Given the description of an element on the screen output the (x, y) to click on. 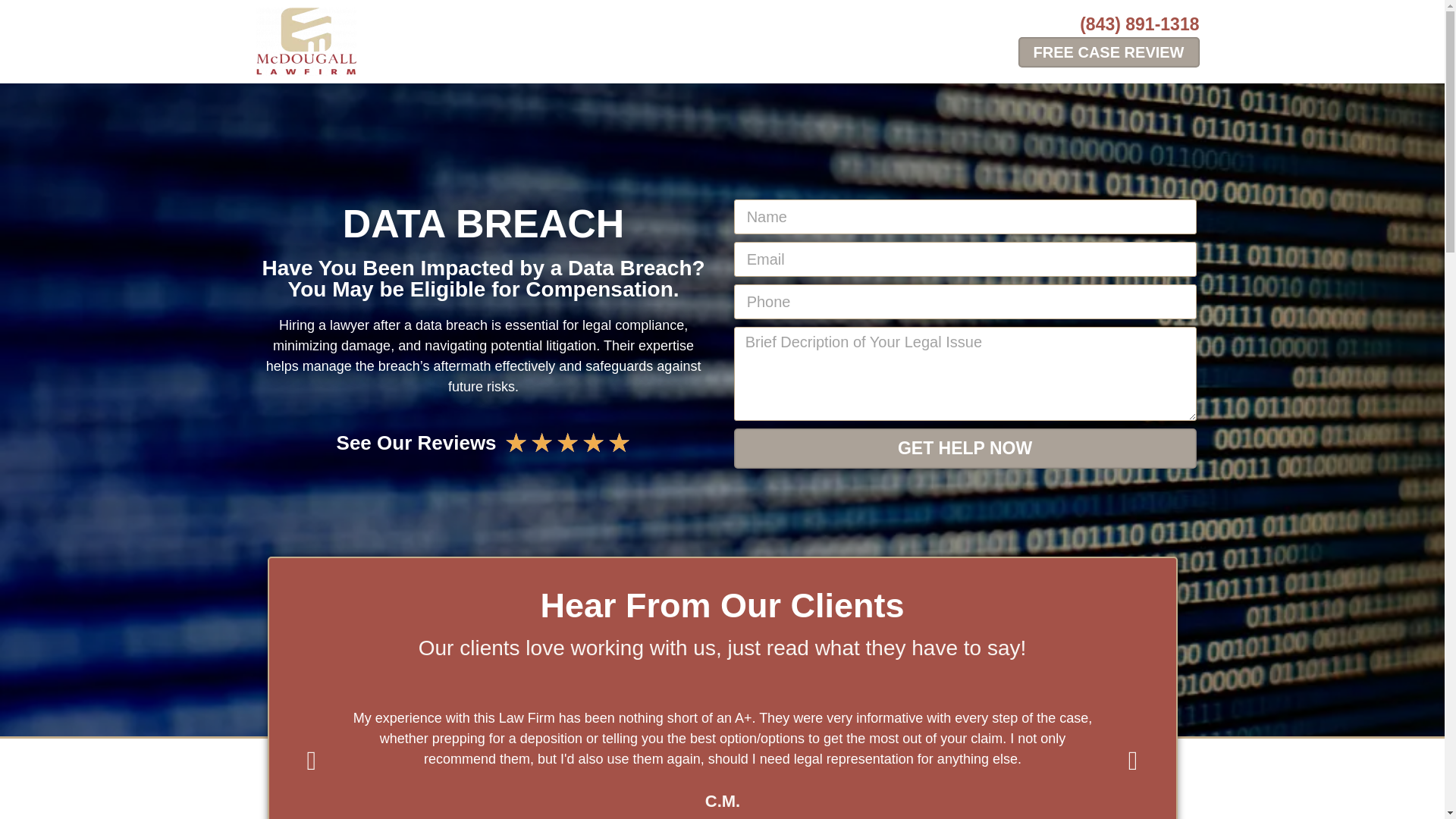
FREE CASE REVIEW (1108, 51)
GET HELP NOW (964, 448)
mcdougall-law-firm-logo-rev2 (306, 41)
